Given the description of an element on the screen output the (x, y) to click on. 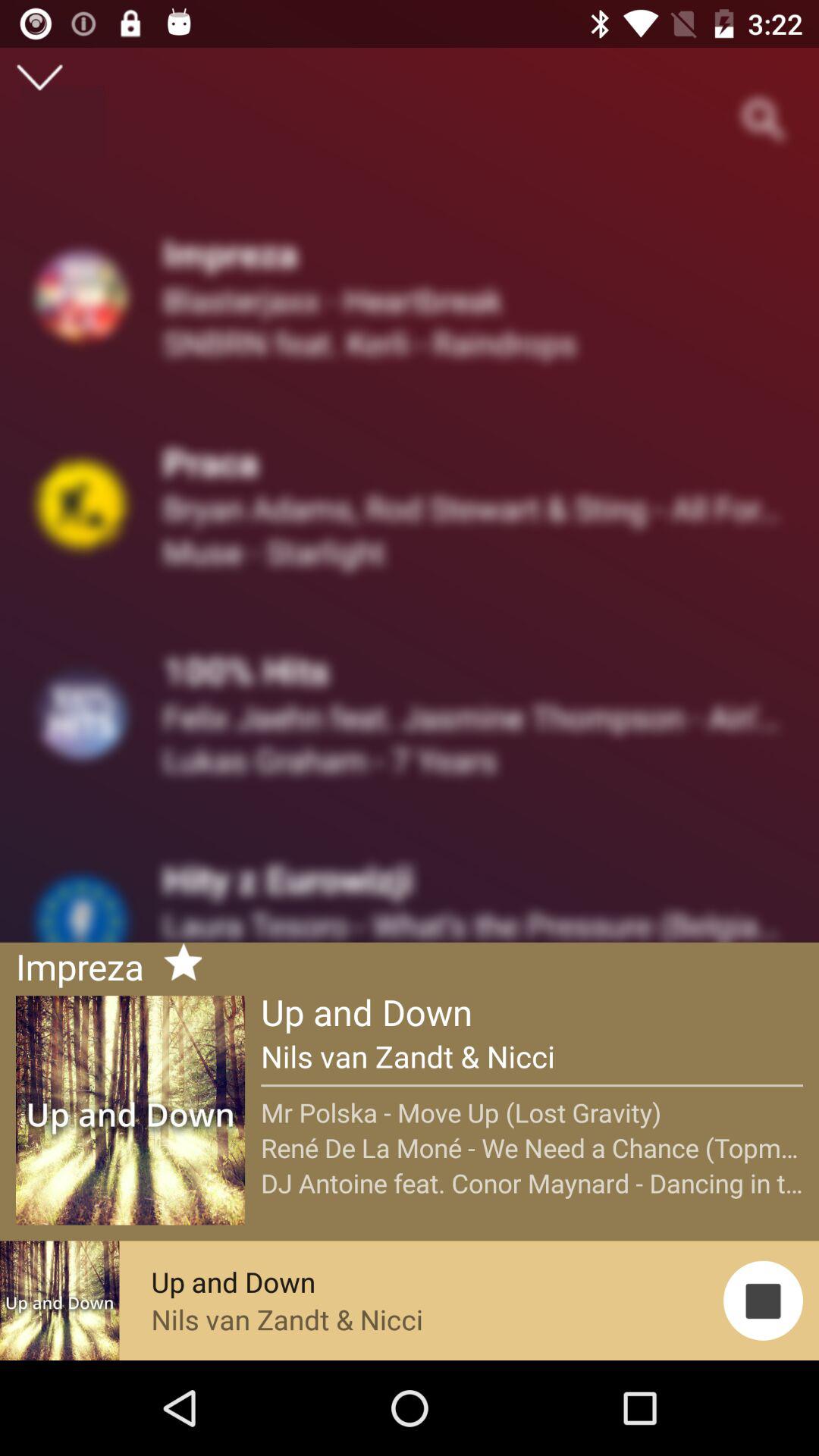
expand option (39, 77)
